Given the description of an element on the screen output the (x, y) to click on. 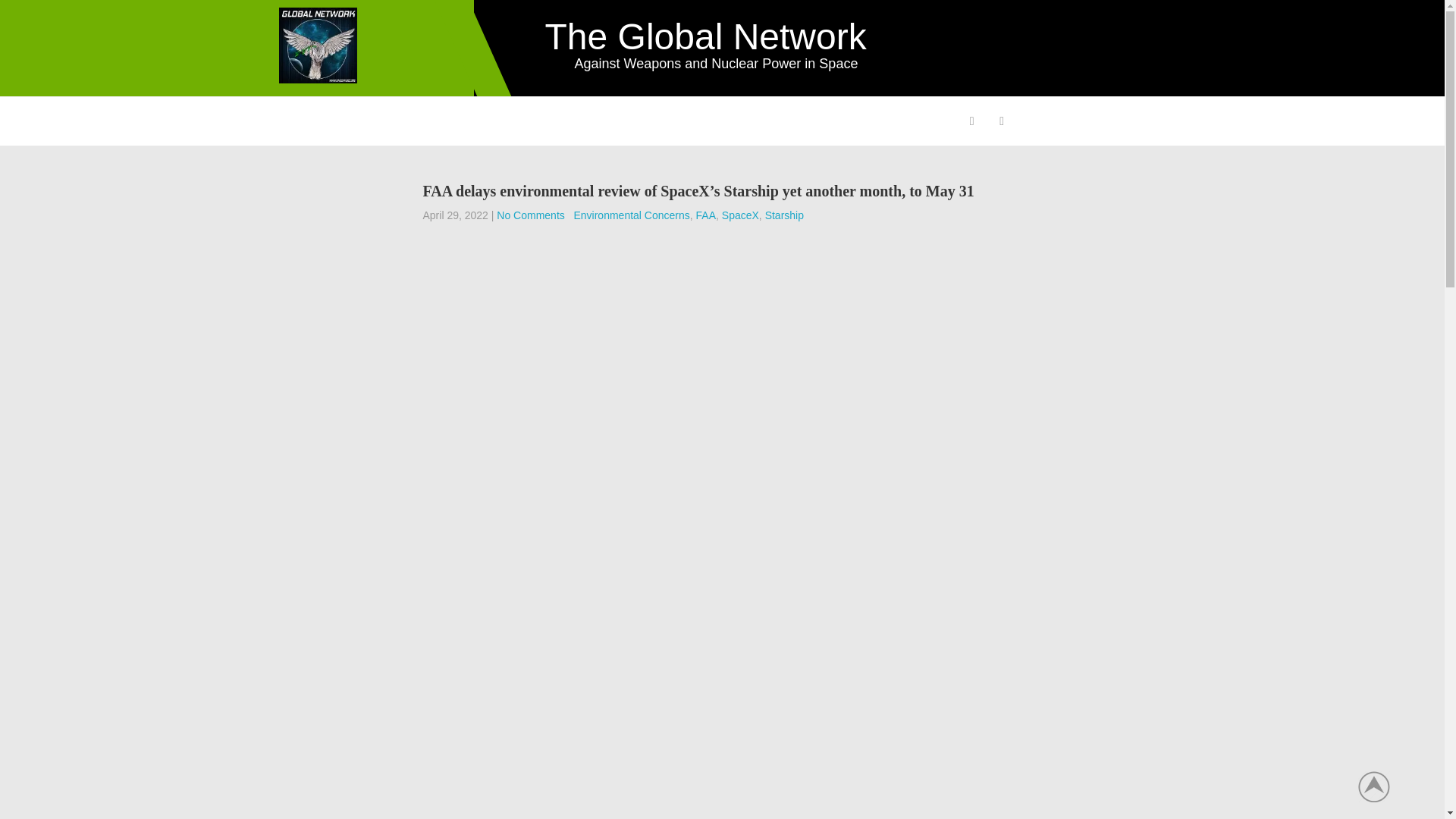
View all posts in Environmental Concerns (630, 215)
About Us (315, 121)
View all posts in SpaceX (740, 215)
Donate (892, 121)
Contact Us (818, 121)
View all posts in Starship (784, 215)
fab fa-facebook-f (971, 122)
Events (667, 121)
Resources (737, 121)
Top of Page (1382, 786)
